Given the description of an element on the screen output the (x, y) to click on. 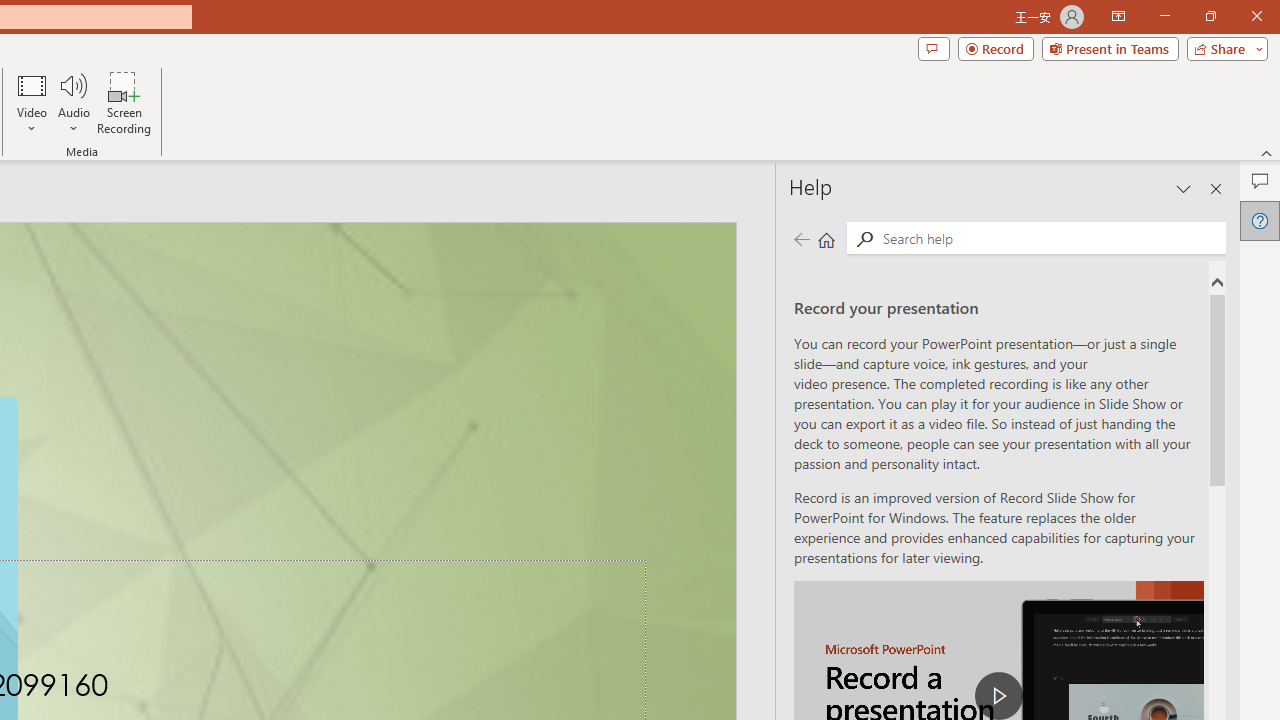
Video (31, 102)
play Record a Presentation (998, 695)
